Given the description of an element on the screen output the (x, y) to click on. 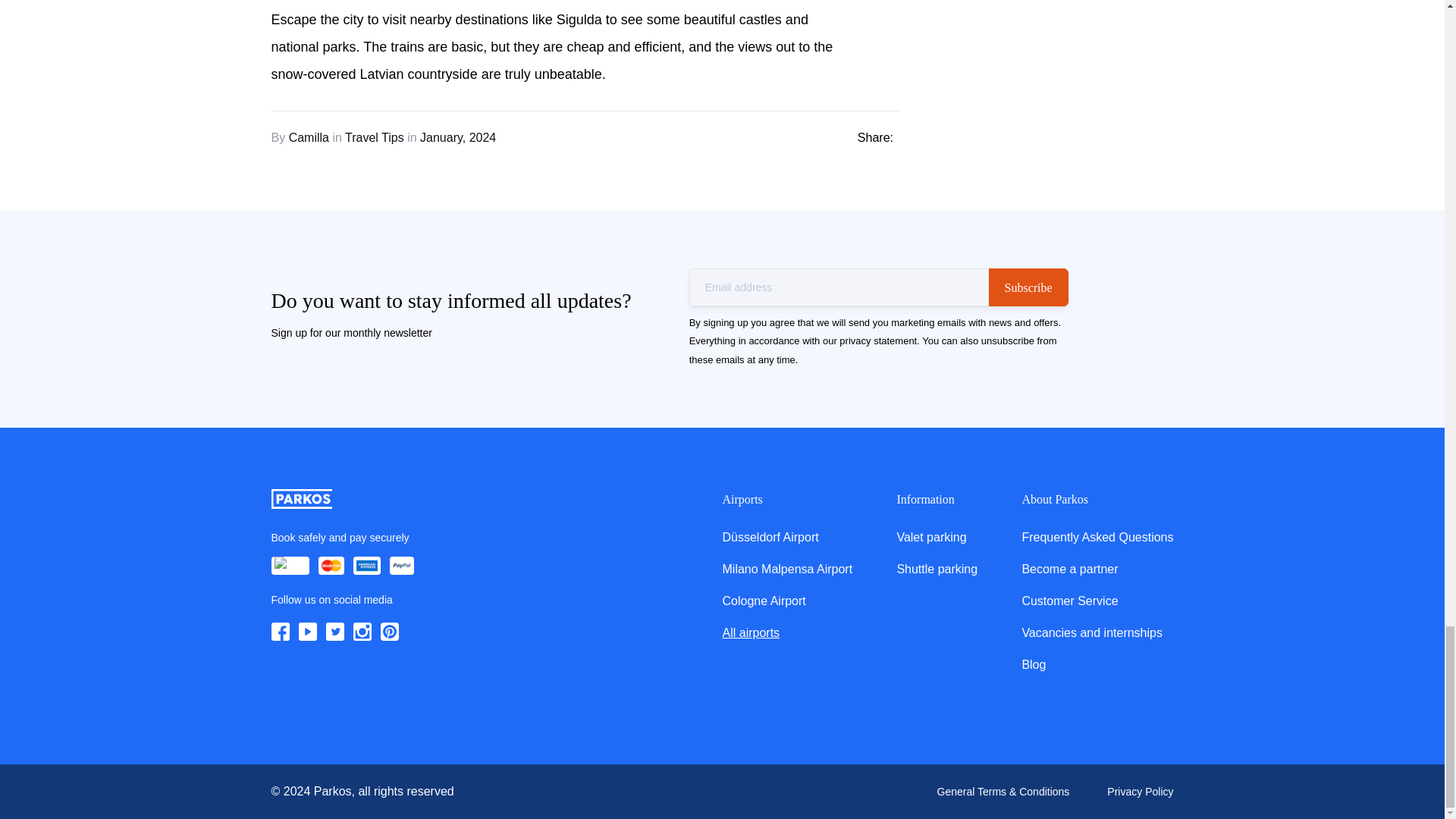
Vacancies and internships (1091, 632)
Privacy Policy (1139, 791)
All airports (750, 632)
Frequently Asked Questions (1097, 536)
privacy statement (878, 340)
Shuttle parking (936, 568)
Cologne Airport (763, 600)
Become a partner (1070, 568)
Valet parking (931, 536)
Milano Malpensa Airport (786, 568)
